Given the description of an element on the screen output the (x, y) to click on. 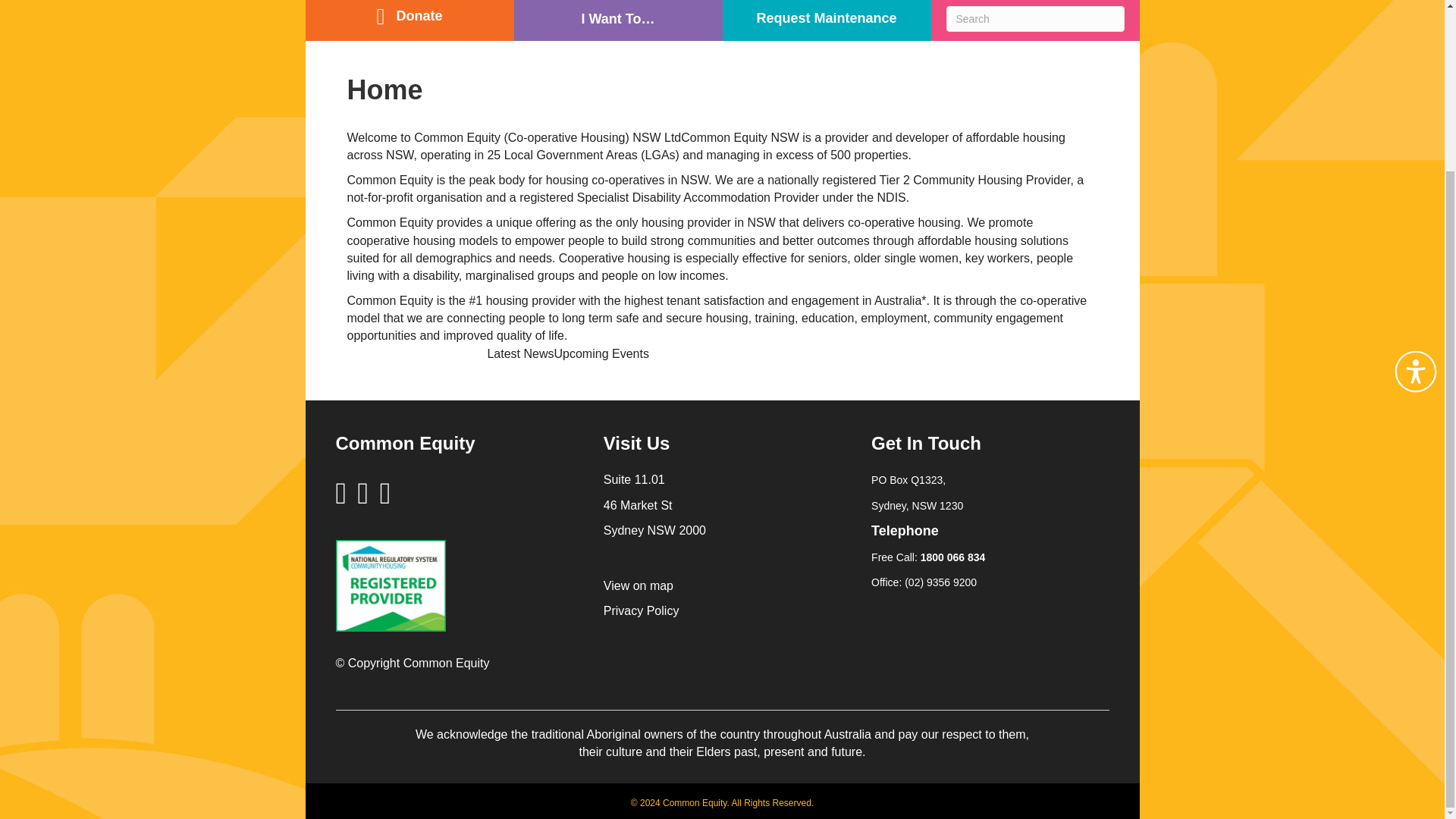
Register Now (642, 74)
